Given the description of an element on the screen output the (x, y) to click on. 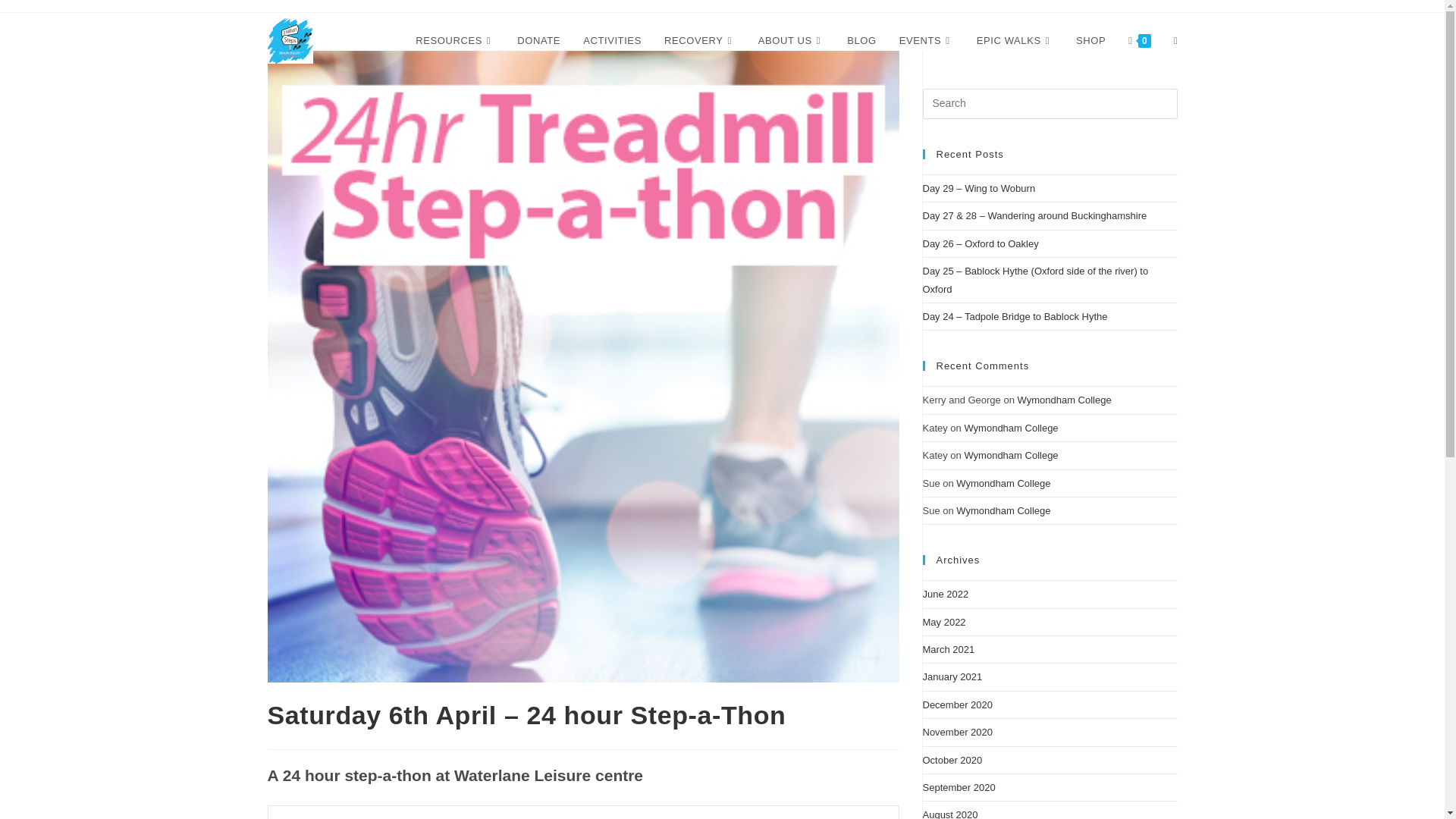
ABOUT US (790, 40)
ACTIVITIES (612, 40)
RECOVERY (699, 40)
BLOG (861, 40)
DONATE (538, 40)
RESOURCES (454, 40)
EVENTS (926, 40)
EPIC WALKS (1014, 40)
